Given the description of an element on the screen output the (x, y) to click on. 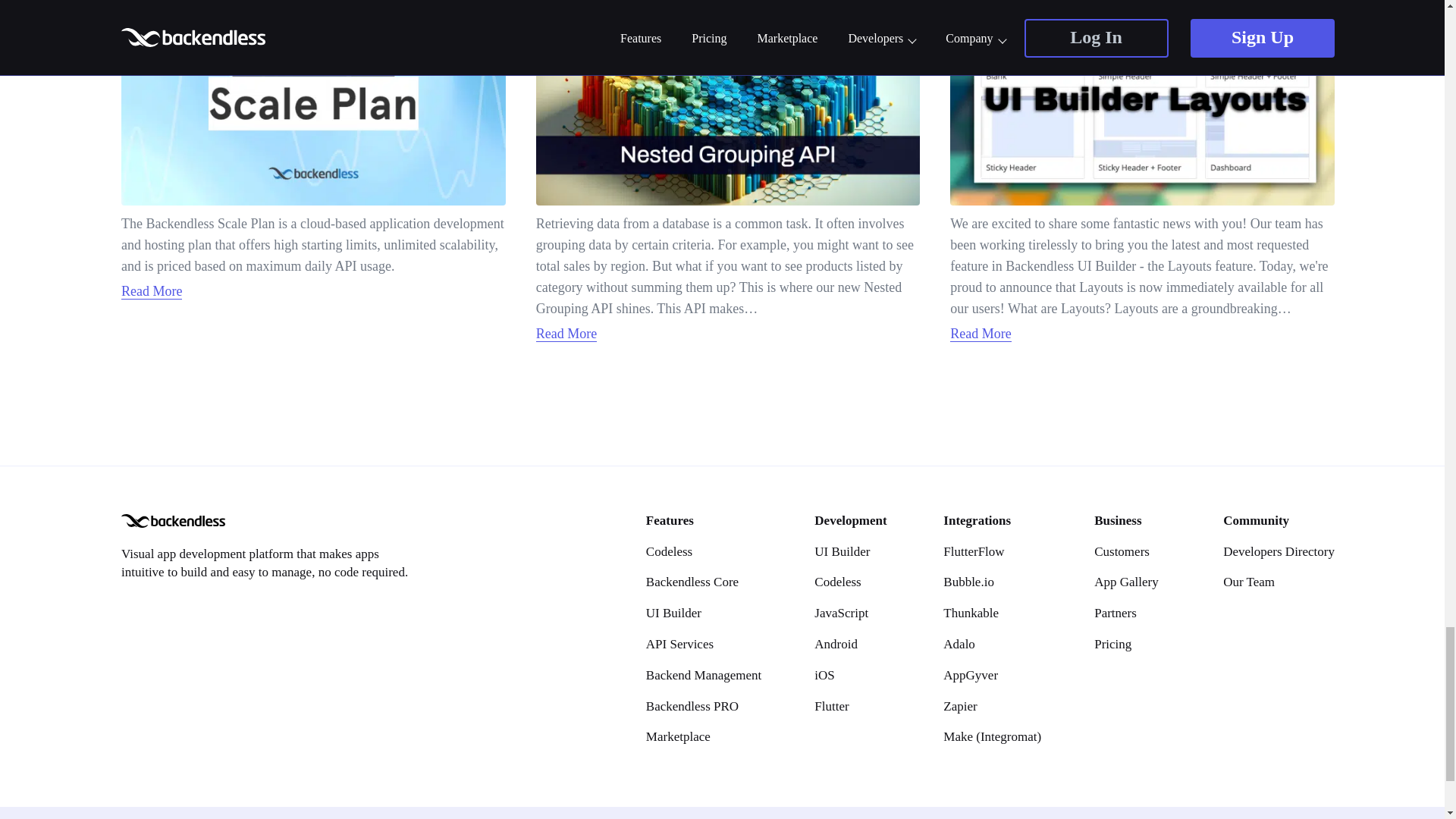
Backendless (172, 520)
